Given the description of an element on the screen output the (x, y) to click on. 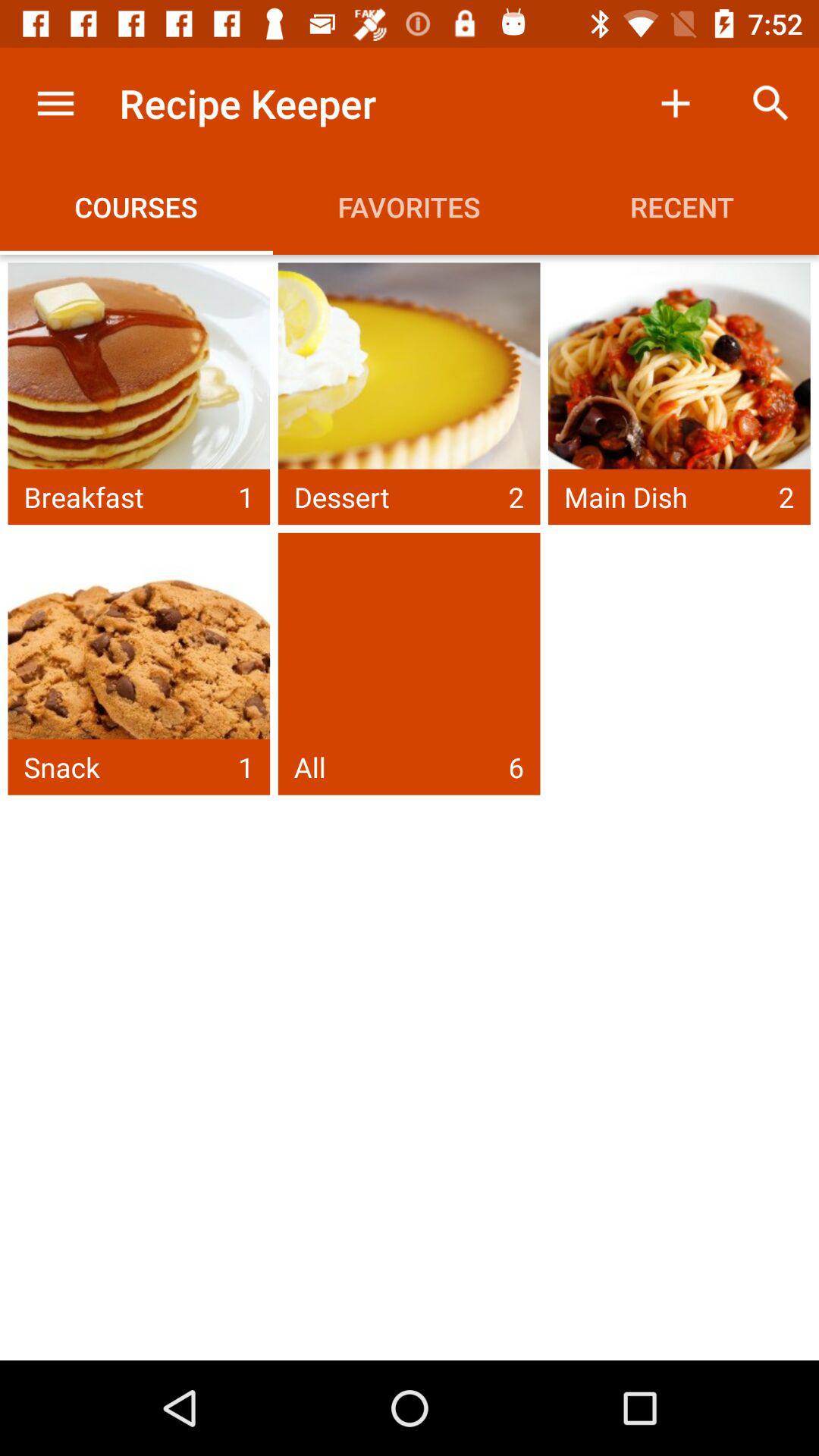
launch the item to the left of the recipe keeper item (55, 103)
